Given the description of an element on the screen output the (x, y) to click on. 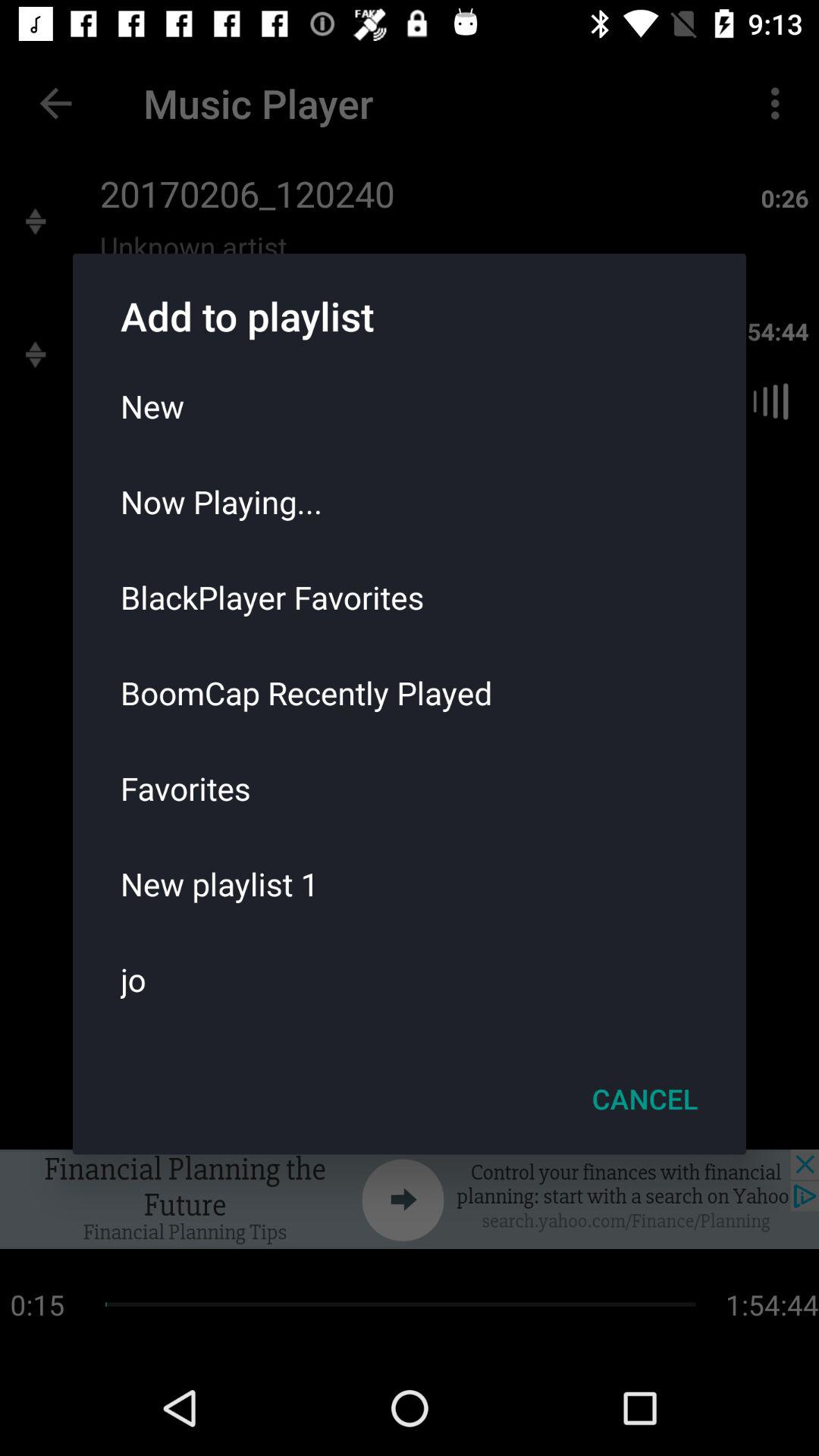
flip until new playlist 1 icon (409, 883)
